Given the description of an element on the screen output the (x, y) to click on. 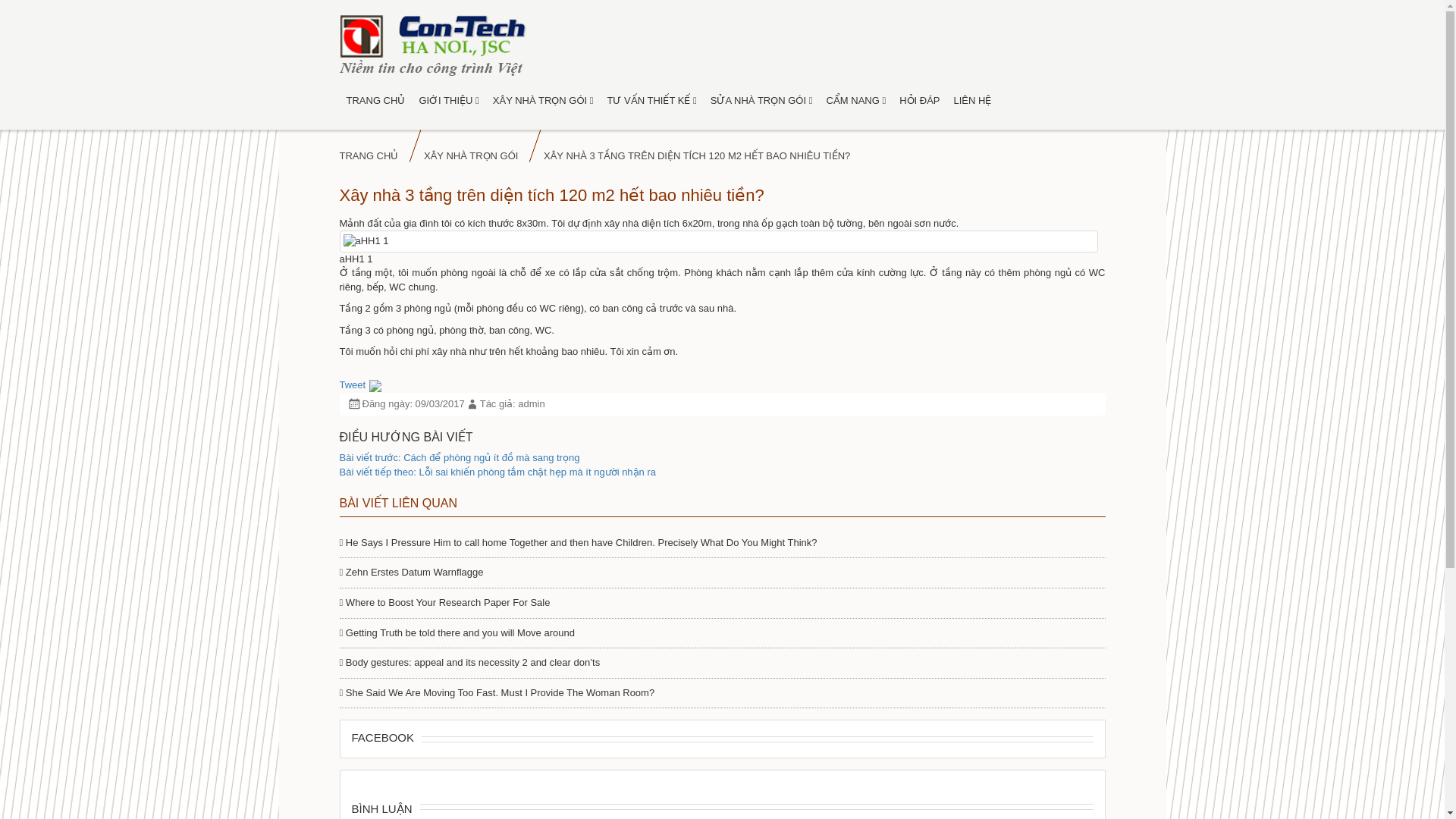
admin (531, 404)
Tweet (352, 384)
Getting Truth be told there and you will Move around (457, 632)
Zehn Erstes Datum Warnflagge (411, 572)
Where to Boost Your Research Paper For Sale (444, 602)
Zehn Erstes Datum Warnflagge (411, 572)
Getting Truth be told there and you will Move around (457, 632)
Where to Boost Your Research Paper For Sale (444, 602)
